Given the description of an element on the screen output the (x, y) to click on. 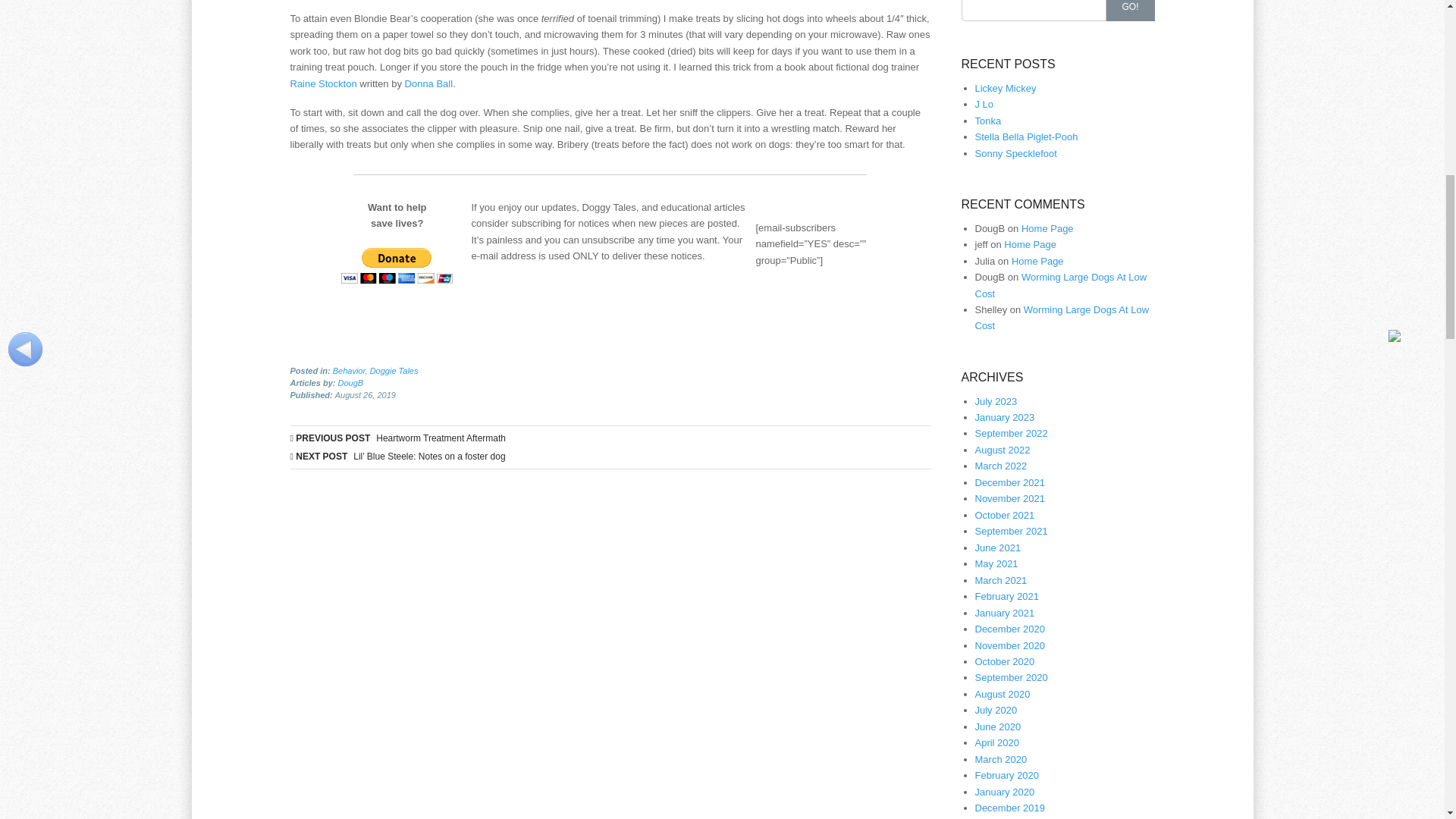
Raine Stockton (322, 83)
Donna Ball (428, 83)
Behavior (349, 370)
PayPal - The safer, easier way to pay online! (396, 265)
DougB (349, 382)
DougB (349, 382)
Doggie Tales (394, 370)
PREVIOUS POSTHeartworm Treatment Aftermath (609, 438)
